Given the description of an element on the screen output the (x, y) to click on. 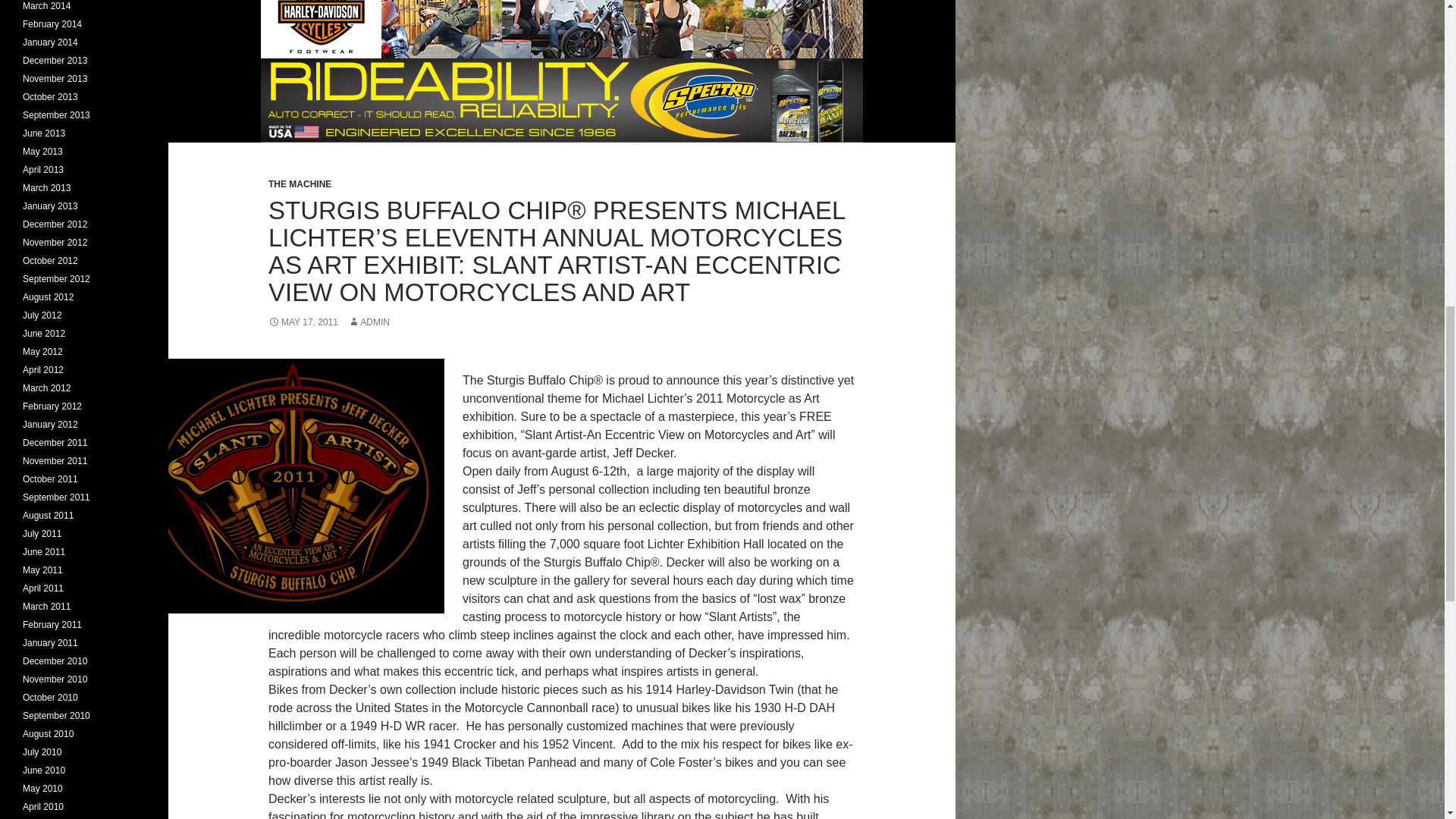
THE MACHINE (299, 184)
MAY 17, 2011 (302, 321)
slantartist (292, 485)
ADMIN (368, 321)
